Given the description of an element on the screen output the (x, y) to click on. 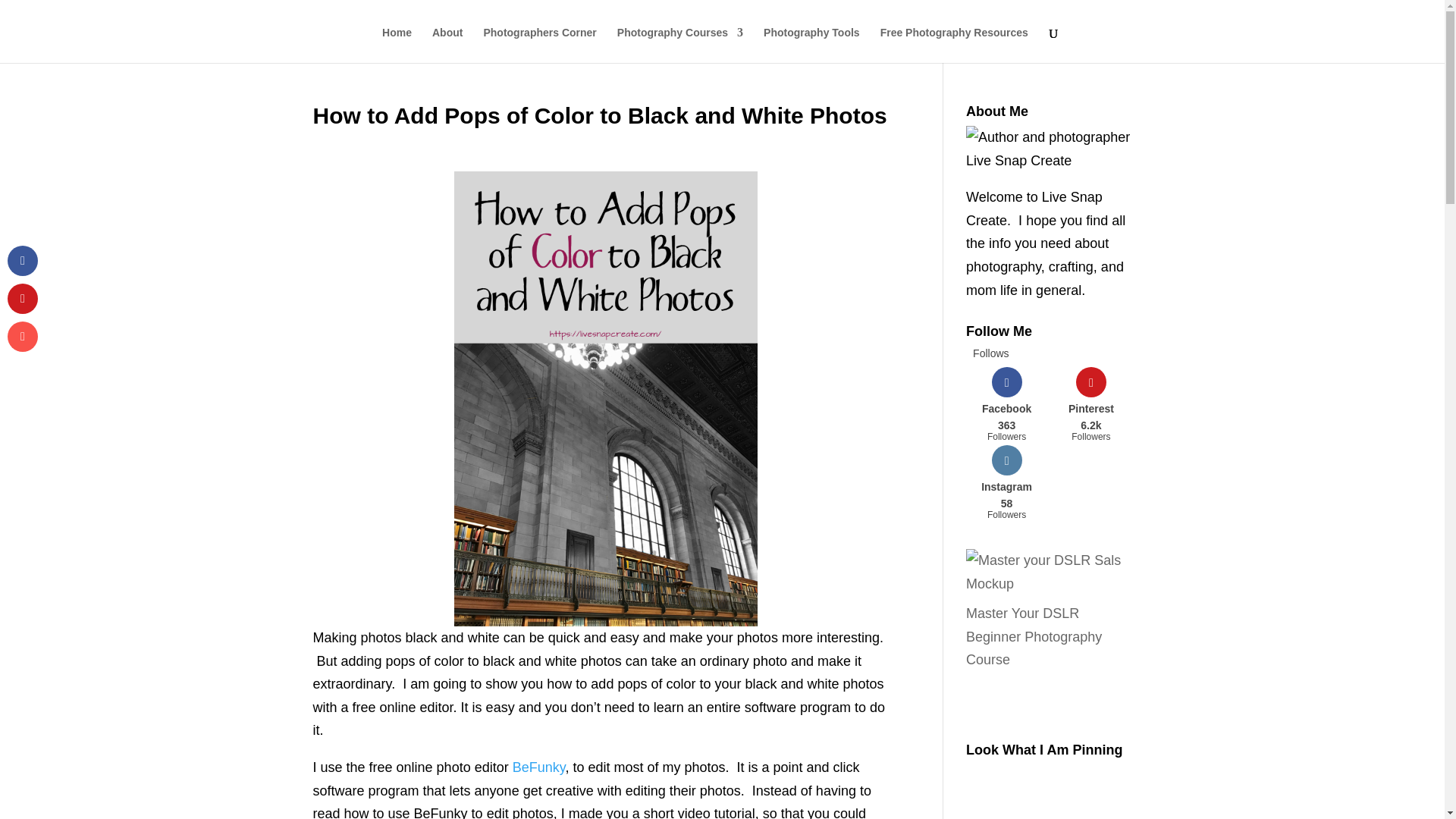
Photography Courses (679, 45)
Free Photography Resources (953, 45)
Master Your DSLR Beginner Photography Course (1006, 403)
Photography Tools (1034, 636)
Photographers Corner (1006, 482)
BeFunky (811, 45)
